Given the description of an element on the screen output the (x, y) to click on. 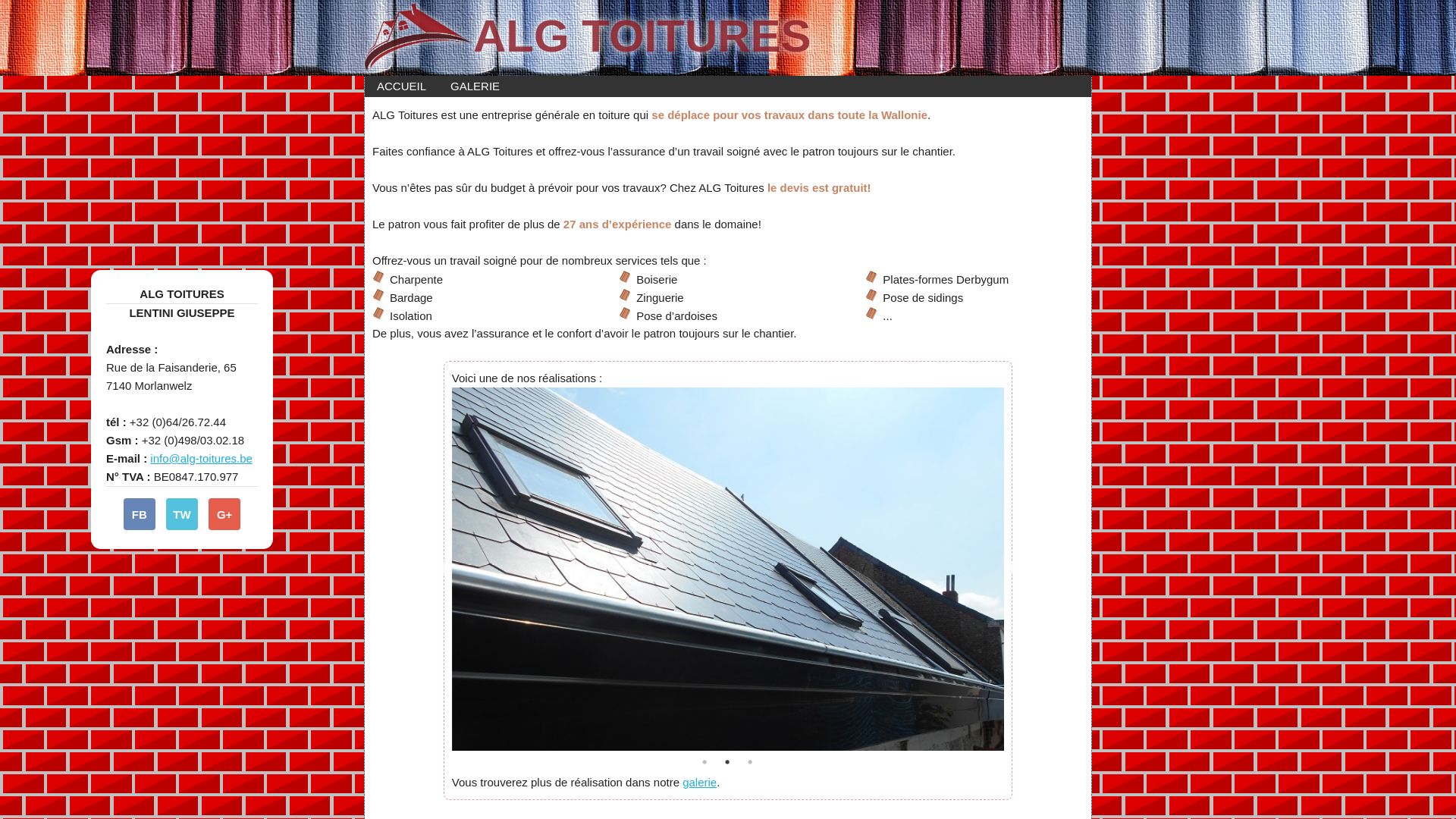
NEXT Element type: text (1014, 568)
GALERIE Element type: text (474, 86)
TW Element type: text (181, 514)
info@alg-toitures.be Element type: text (200, 457)
ACCUEIL Element type: text (401, 86)
2 Element type: text (727, 761)
G+ Element type: text (224, 514)
FB Element type: text (139, 514)
galerie Element type: text (699, 781)
3 Element type: text (750, 761)
PREVIOUS Element type: text (440, 568)
1 Element type: text (704, 761)
